Given the description of an element on the screen output the (x, y) to click on. 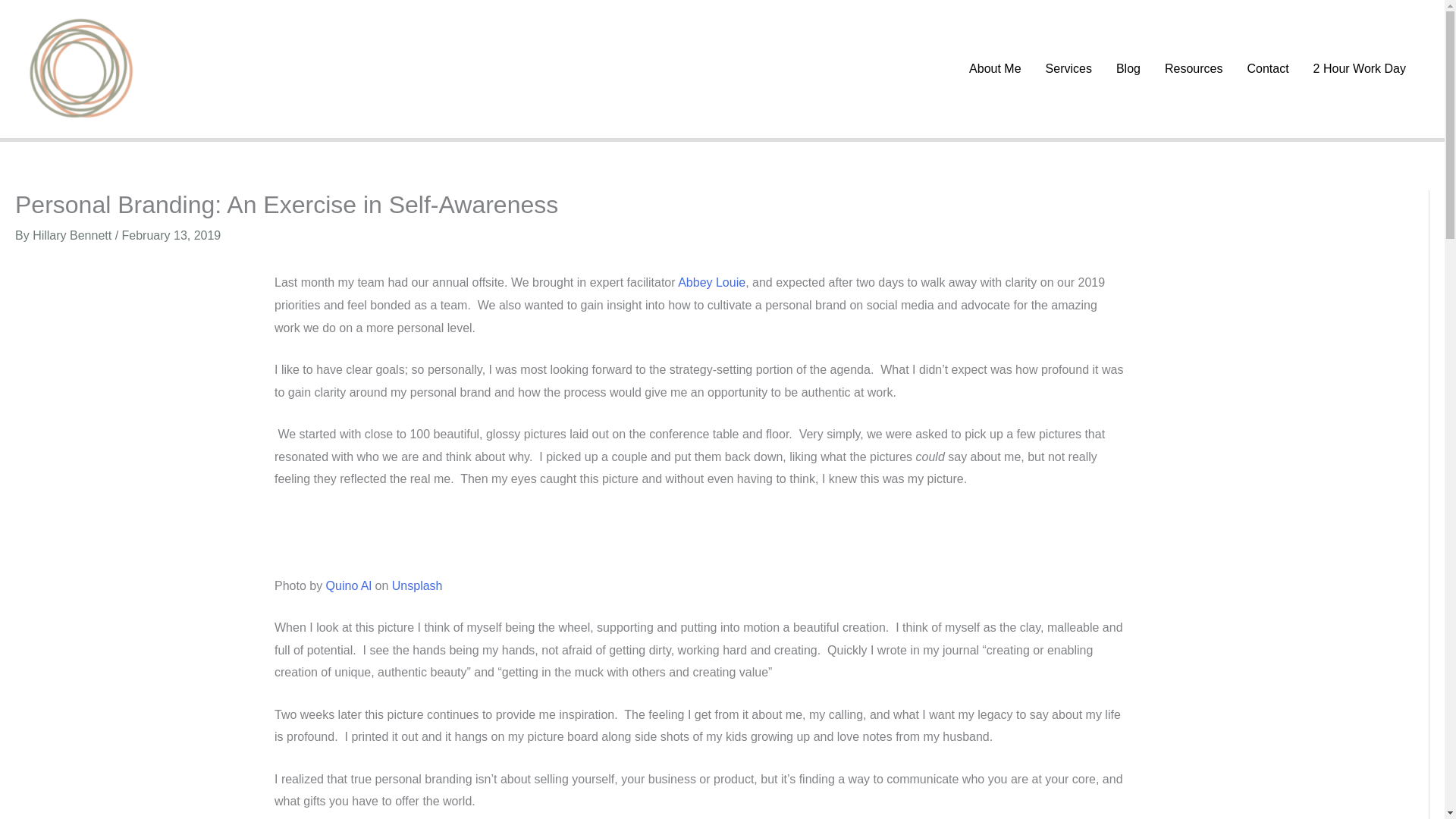
Resources (1193, 69)
2 Hour Work Day (1359, 69)
Quino Al (348, 585)
About Me (994, 69)
Hillary Bennett (73, 235)
View all posts by Hillary Bennett (73, 235)
Services (1068, 69)
Abbey Louie (711, 282)
Unsplash (416, 585)
Blog (1128, 69)
Contact (1267, 69)
